Given the description of an element on the screen output the (x, y) to click on. 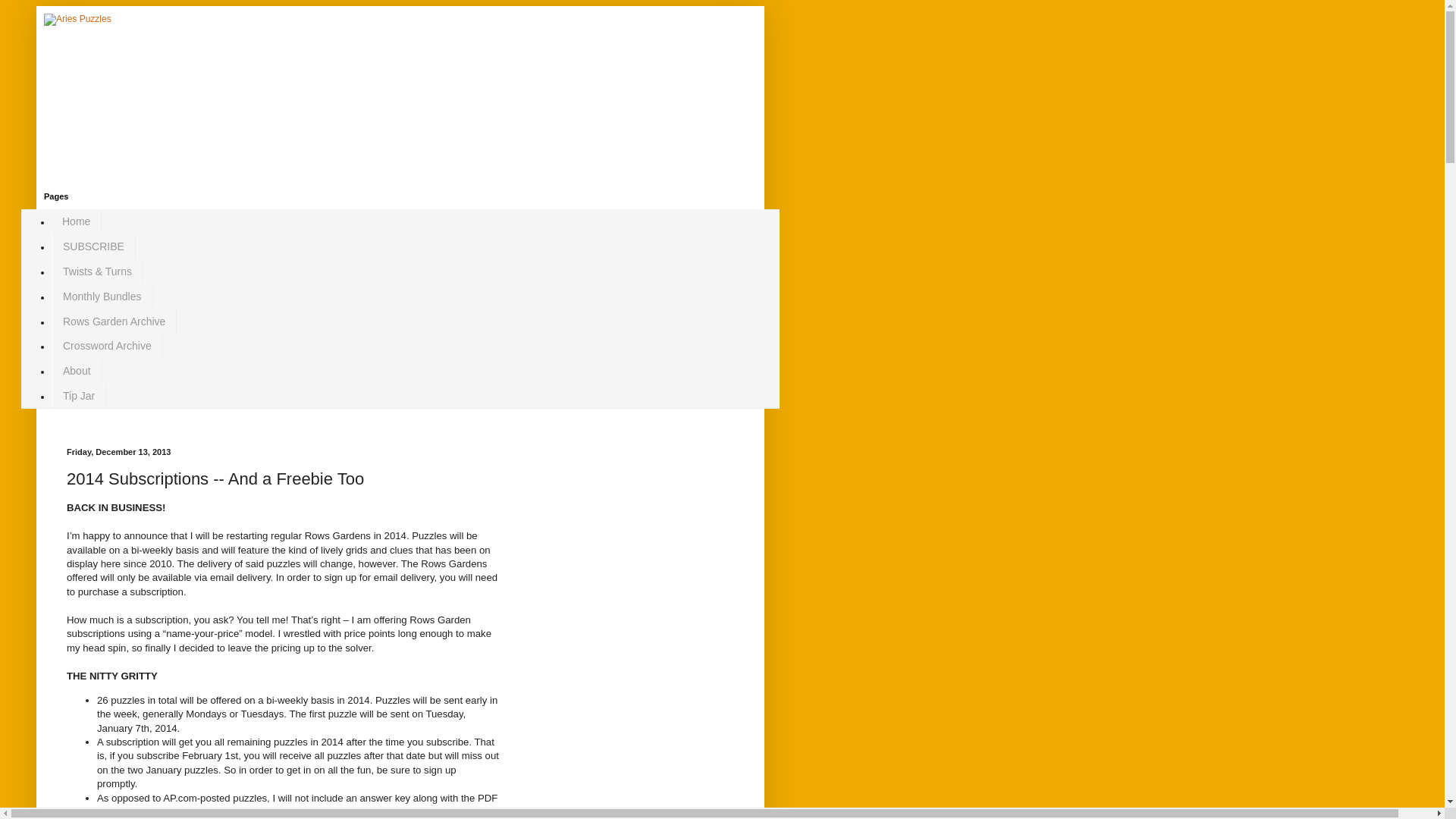
About (75, 371)
Rows Garden Archive (113, 320)
SUBSCRIBE (92, 246)
Monthly Bundles (101, 295)
Home (75, 221)
Crossword Archive (106, 345)
Tip Jar (78, 395)
